Given the description of an element on the screen output the (x, y) to click on. 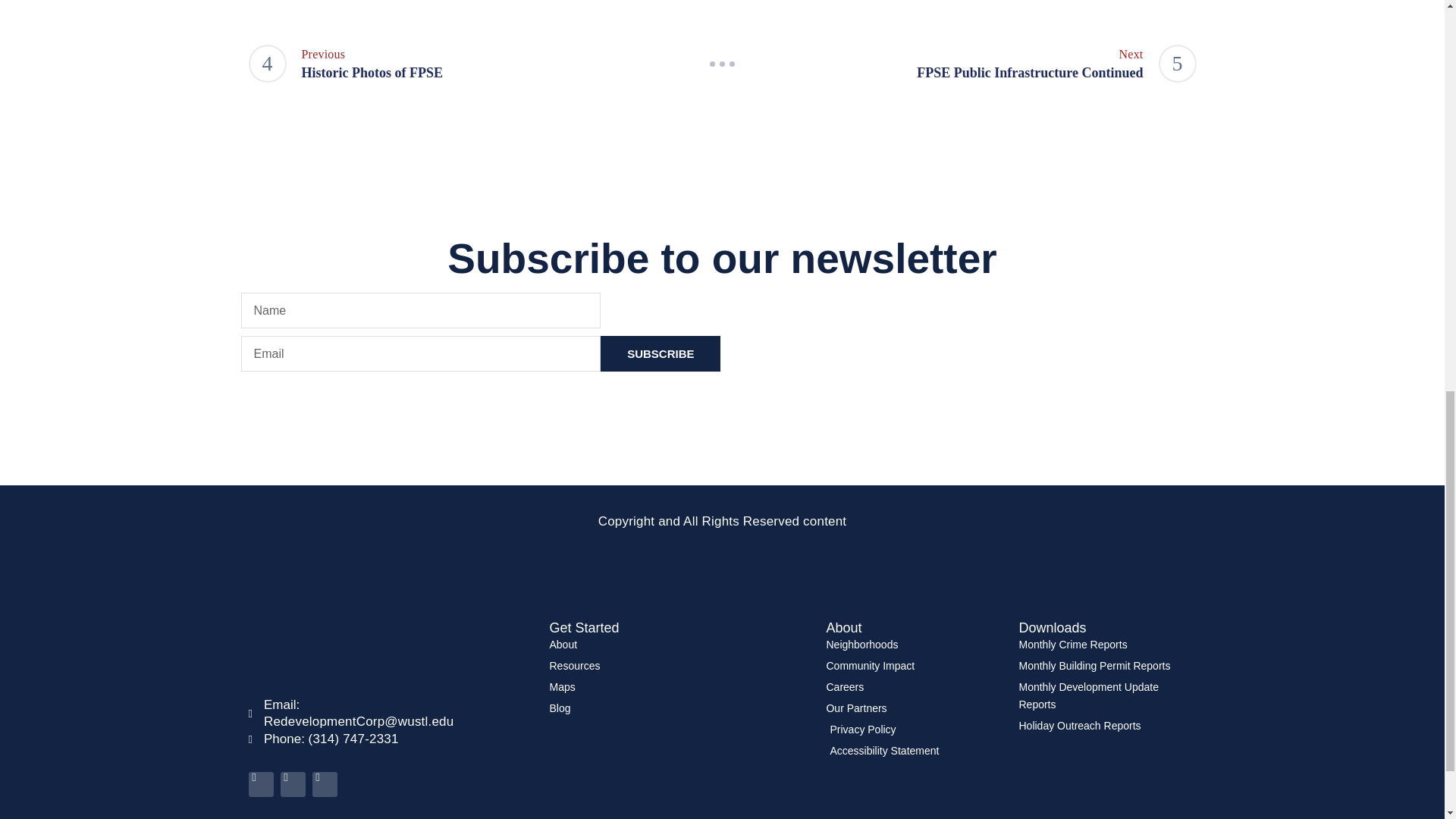
Neighborhoods (914, 644)
Slash (722, 63)
Maps (679, 687)
Blog (679, 708)
Resources (475, 63)
SUBSCRIBE (679, 665)
About (659, 353)
Community Impact (968, 63)
